Given the description of an element on the screen output the (x, y) to click on. 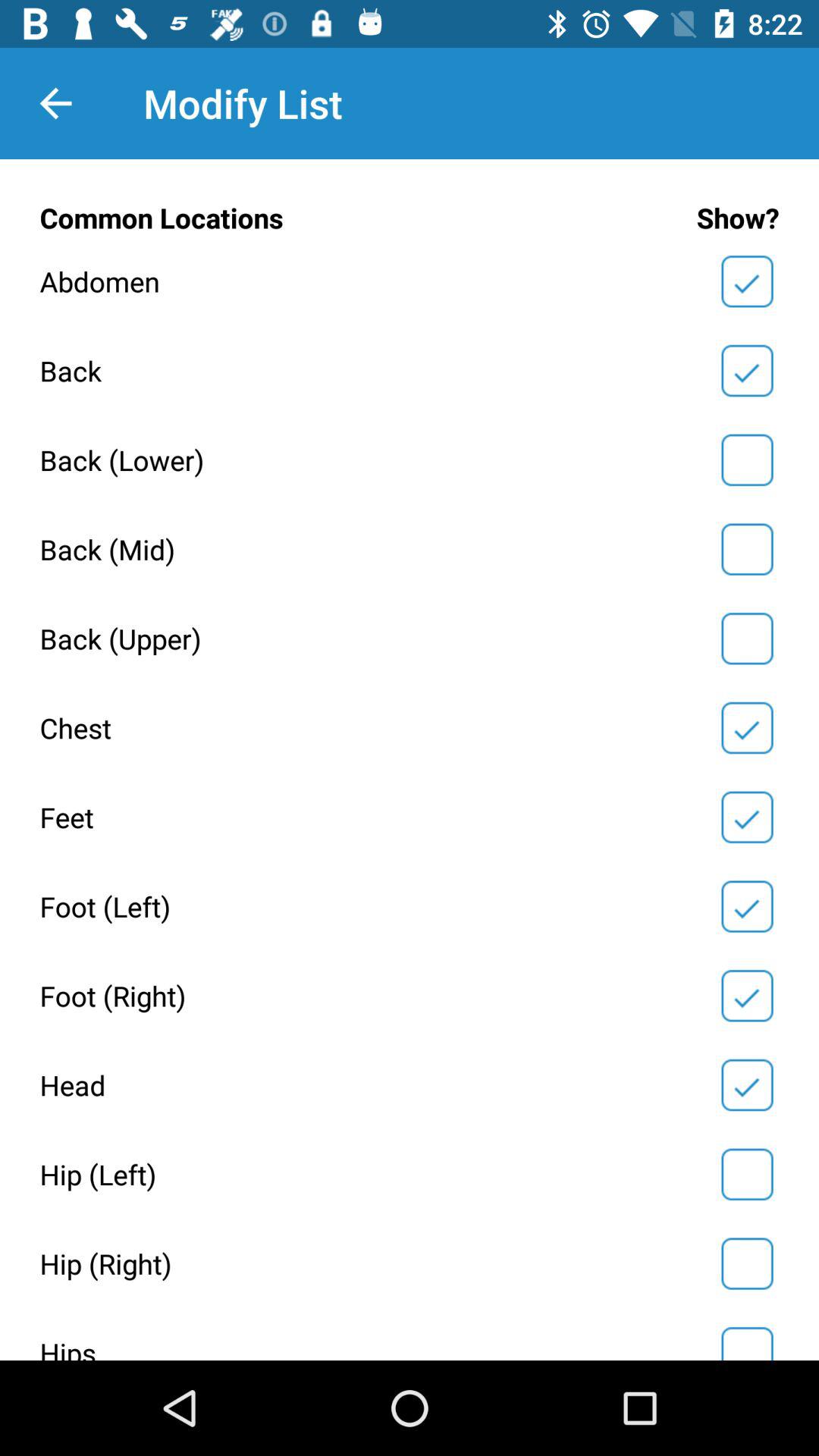
show abdomen option (747, 281)
